Given the description of an element on the screen output the (x, y) to click on. 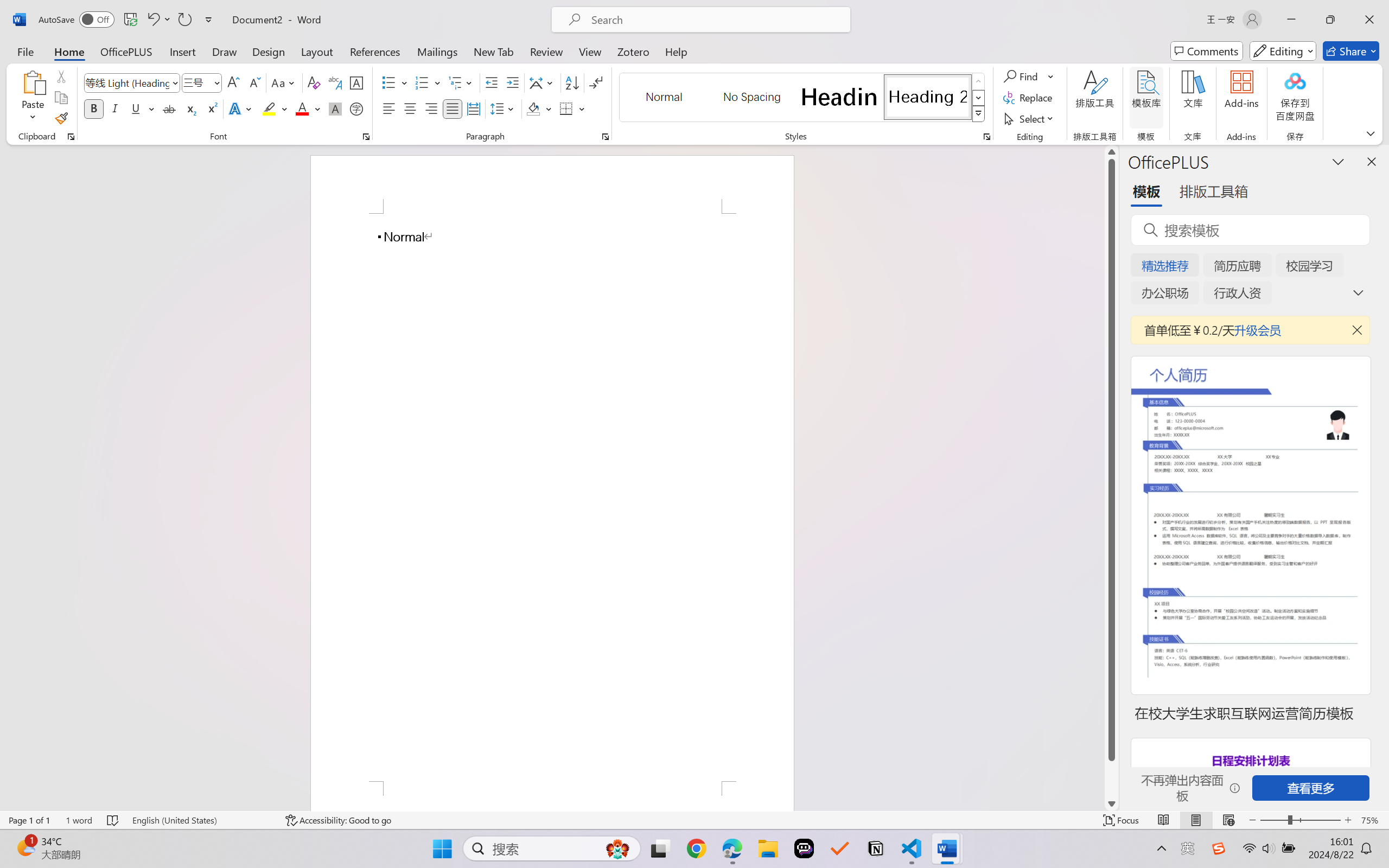
Heading 1 (839, 96)
Strikethrough (169, 108)
Mailings (437, 51)
Draw (224, 51)
Heading 2 (927, 96)
Font Size (201, 82)
Grow Font (233, 82)
Font Color (308, 108)
Line down (1111, 803)
Page 1 content (551, 497)
Align Left (388, 108)
Word Count 1 word (78, 819)
